Given the description of an element on the screen output the (x, y) to click on. 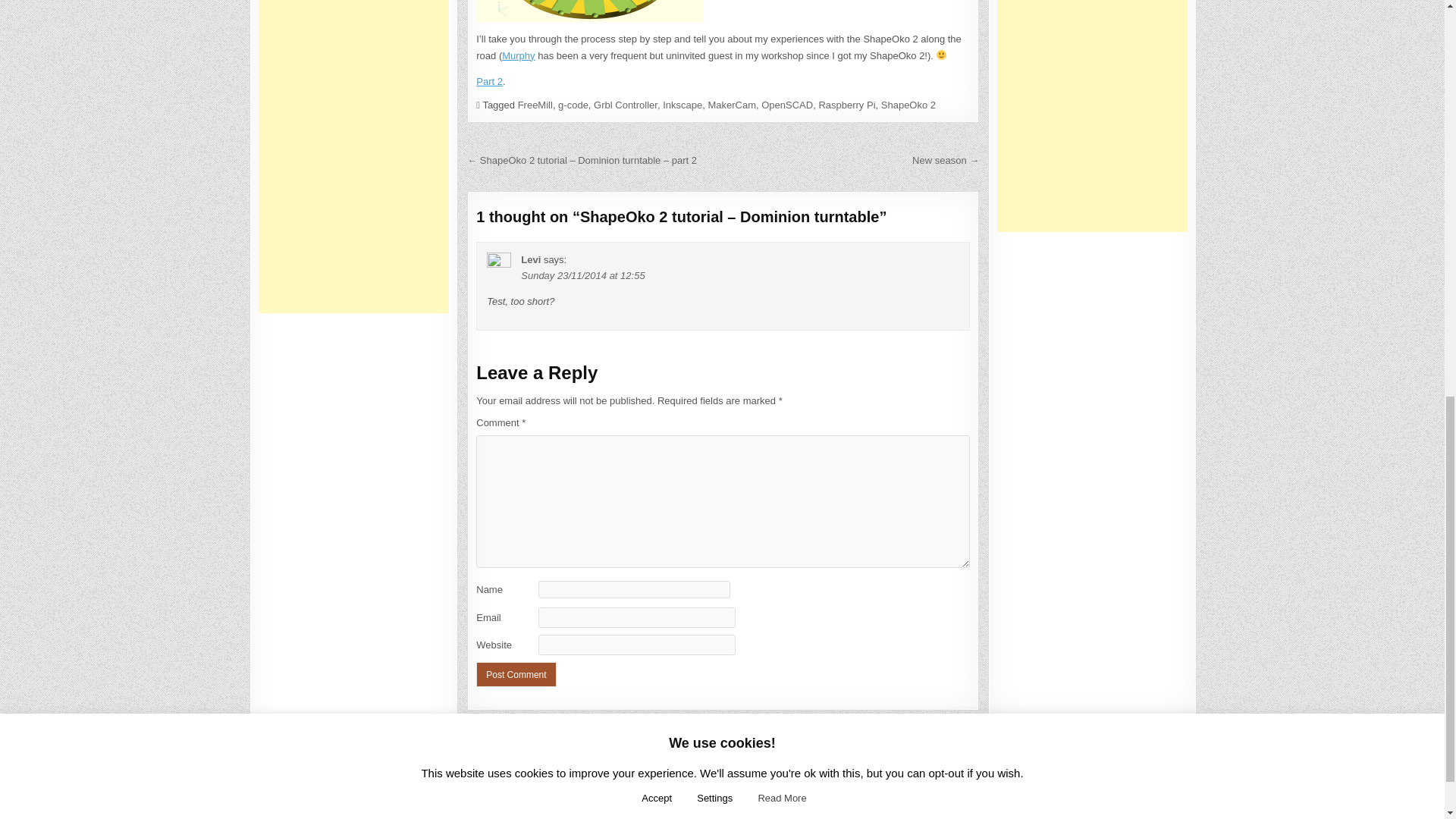
Post Comment (516, 674)
